Given the description of an element on the screen output the (x, y) to click on. 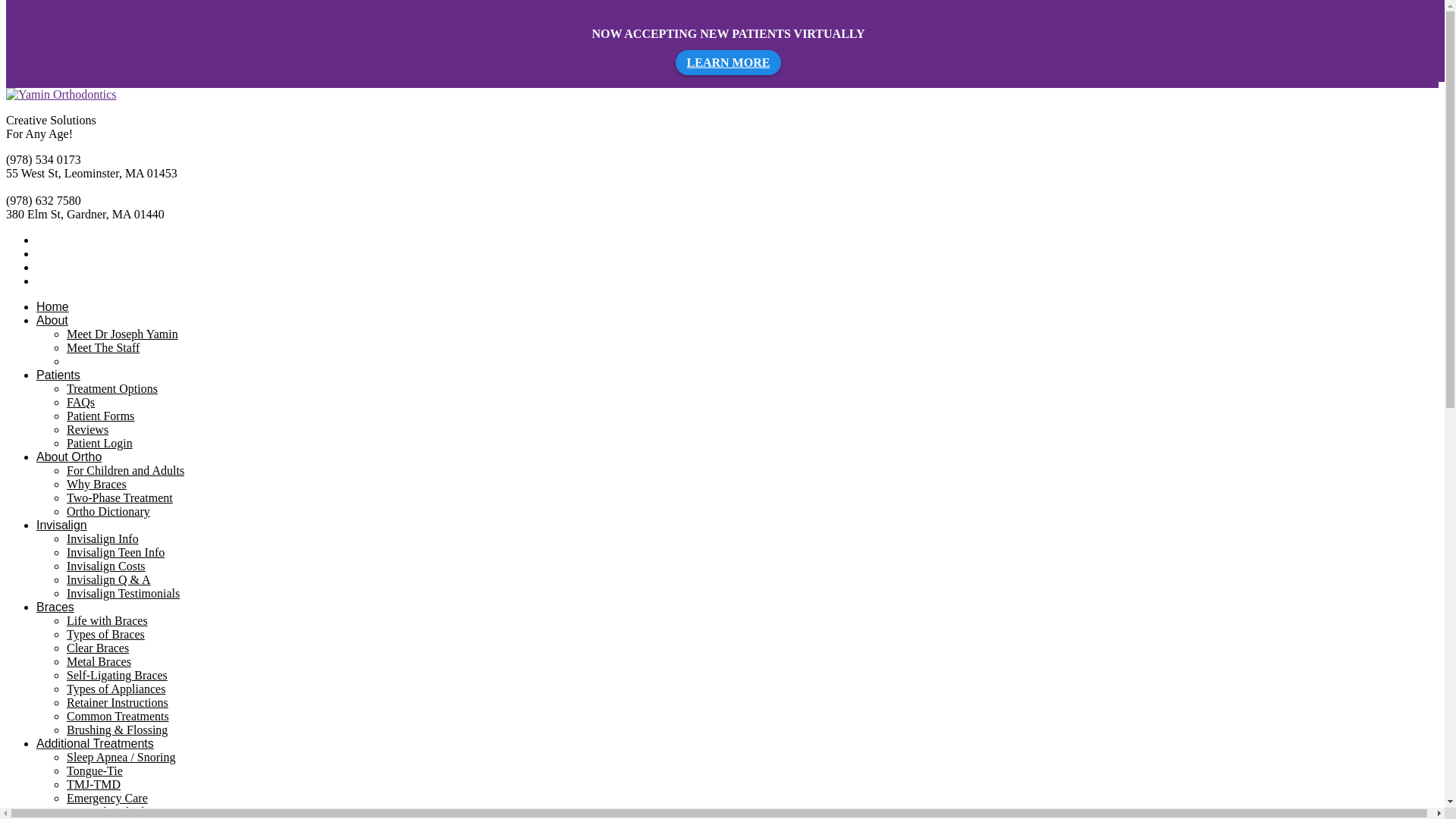
Patient Forms (99, 415)
Invisalign (61, 524)
Reviews (86, 429)
Treatment Options (111, 388)
LEARN MORE (728, 62)
About Ortho (68, 456)
Life with Braces (107, 620)
Invisalign Info (102, 538)
Home (52, 306)
Common Treatments (117, 716)
About (52, 319)
Our Blog (89, 360)
Patient Login (99, 442)
Additional Treatments (95, 743)
Braces (55, 606)
